Given the description of an element on the screen output the (x, y) to click on. 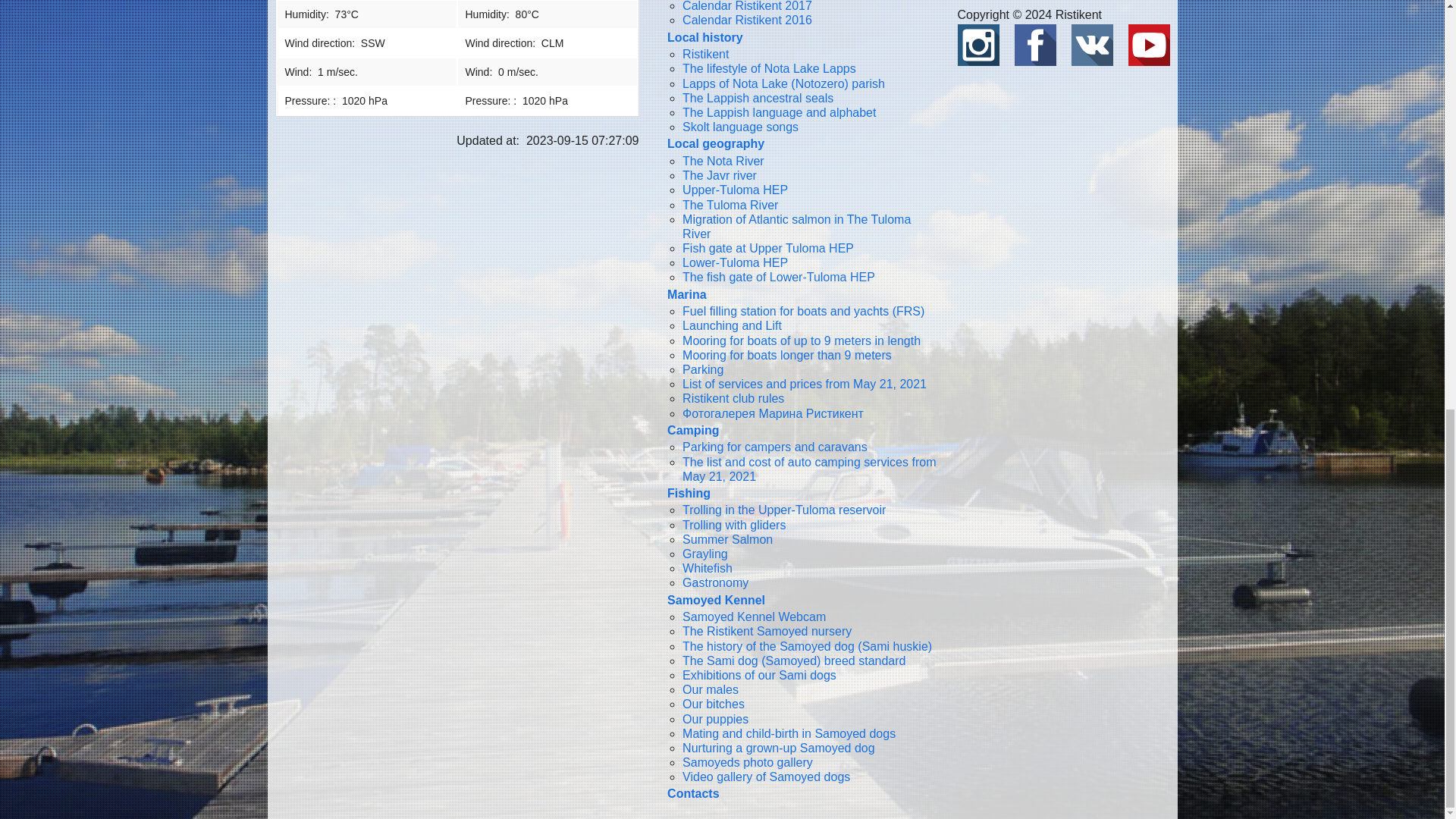
Ristikent VK link (1091, 43)
Ristikent instagram link (977, 43)
Ristikent youtube link (1149, 43)
Ristikent facebook link (1035, 43)
